Given the description of an element on the screen output the (x, y) to click on. 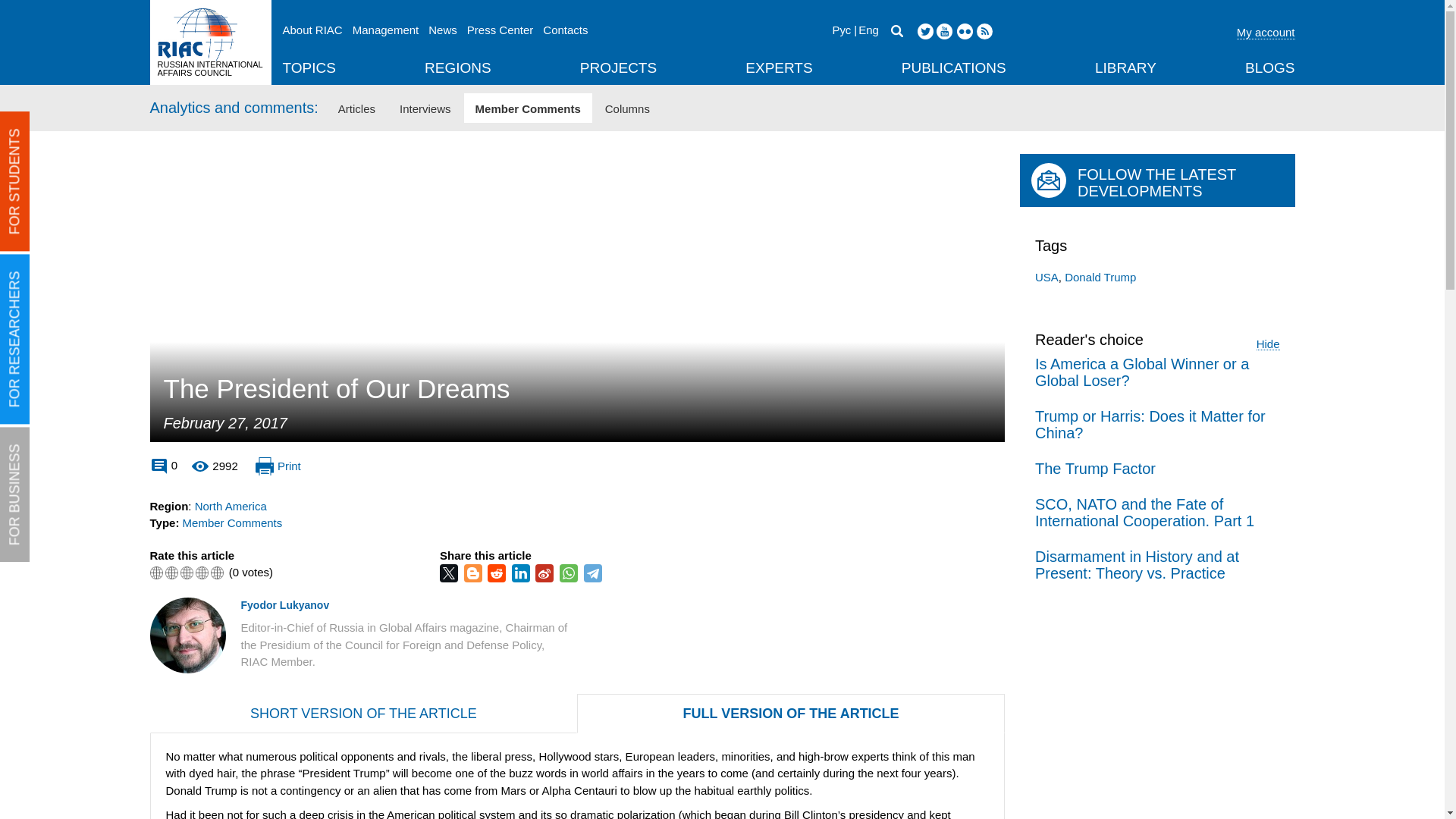
RUSSIAN INTERNATIONAL AFFAIRS COUNCIL (209, 42)
Eng (866, 30)
PUBLICATIONS (953, 69)
I do not recommend (156, 572)
Twitter (450, 573)
EXPERTS (778, 69)
Telegram (594, 573)
My account (1265, 32)
LinkedIn (522, 573)
PROJECTS (617, 69)
